Given the description of an element on the screen output the (x, y) to click on. 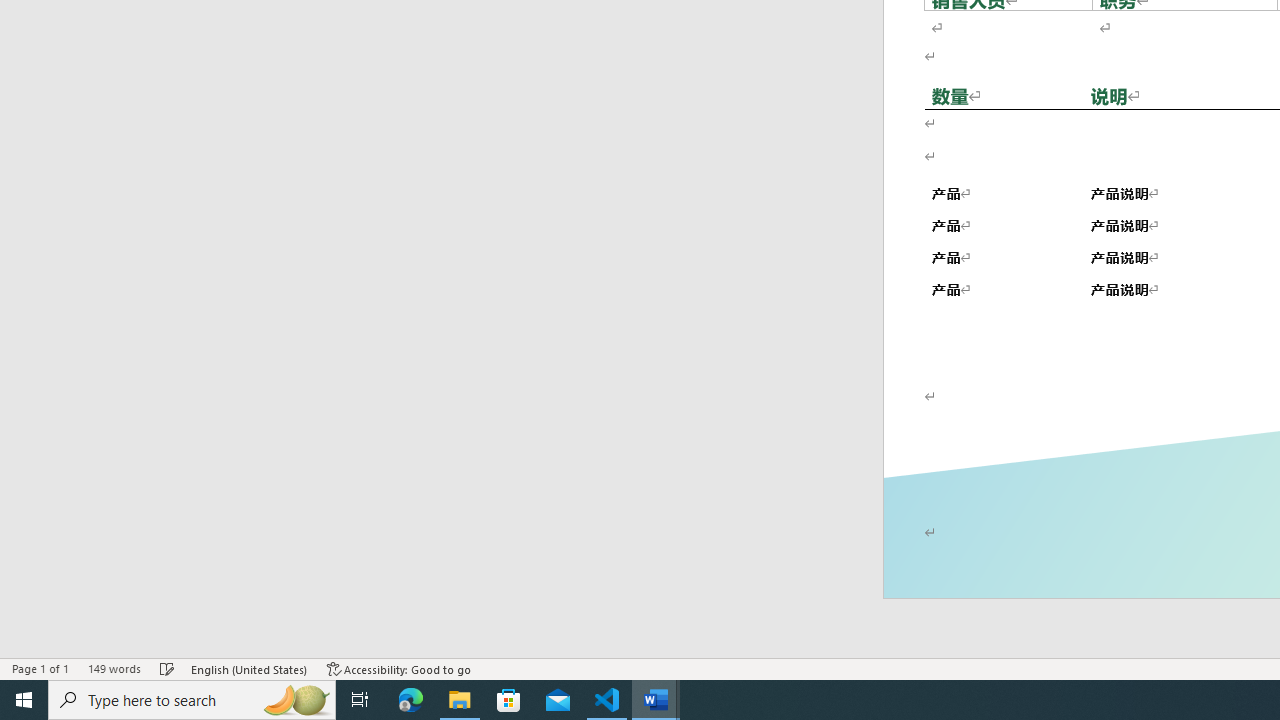
Page Number Page 1 of 1 (39, 668)
